Given the description of an element on the screen output the (x, y) to click on. 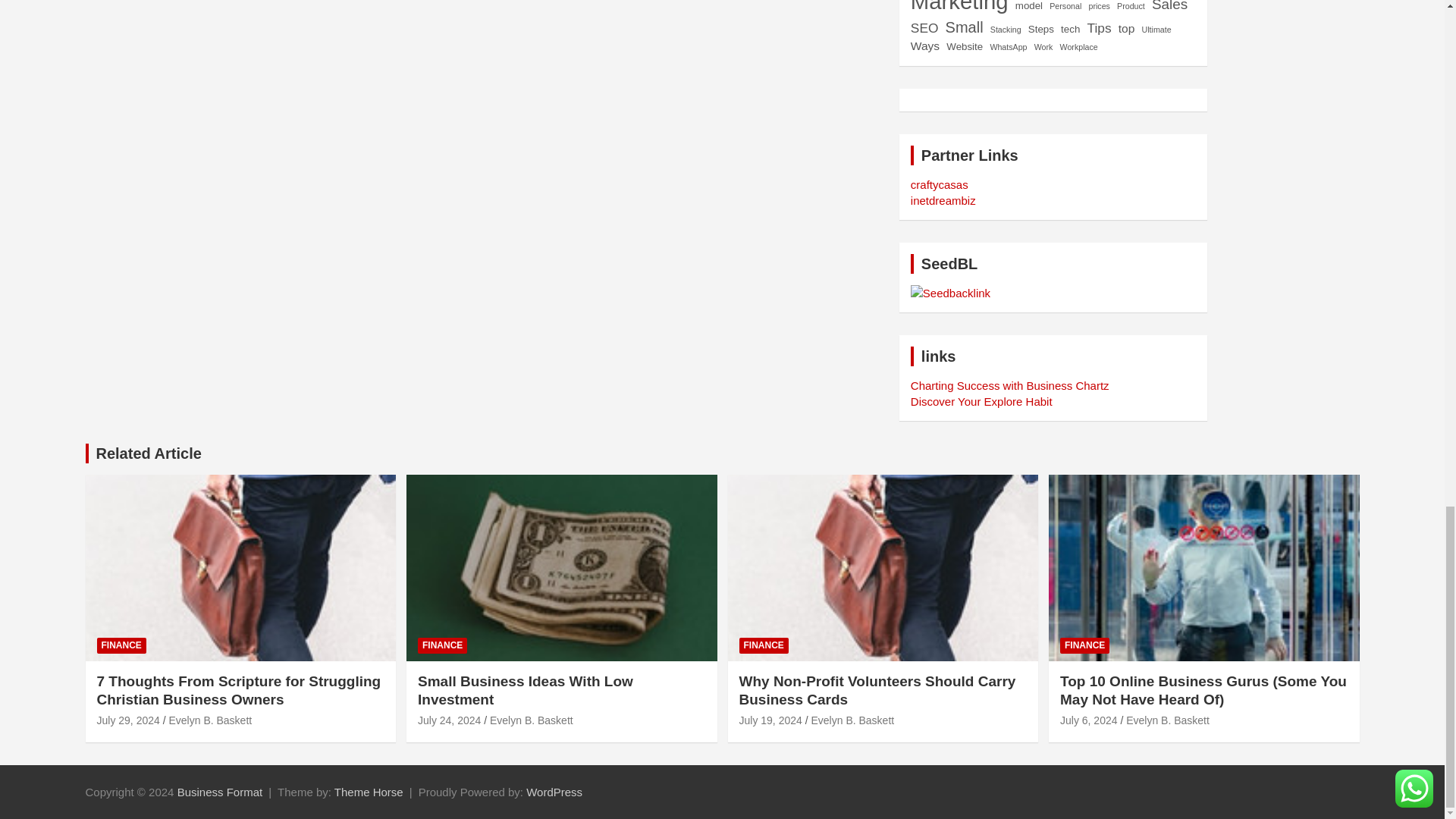
Business Format (220, 791)
Theme Horse (368, 791)
Why Non-Profit Volunteers Should Carry Business Cards (770, 720)
Small Business Ideas With Low Investment (448, 720)
Seedbacklink (950, 293)
